Given the description of an element on the screen output the (x, y) to click on. 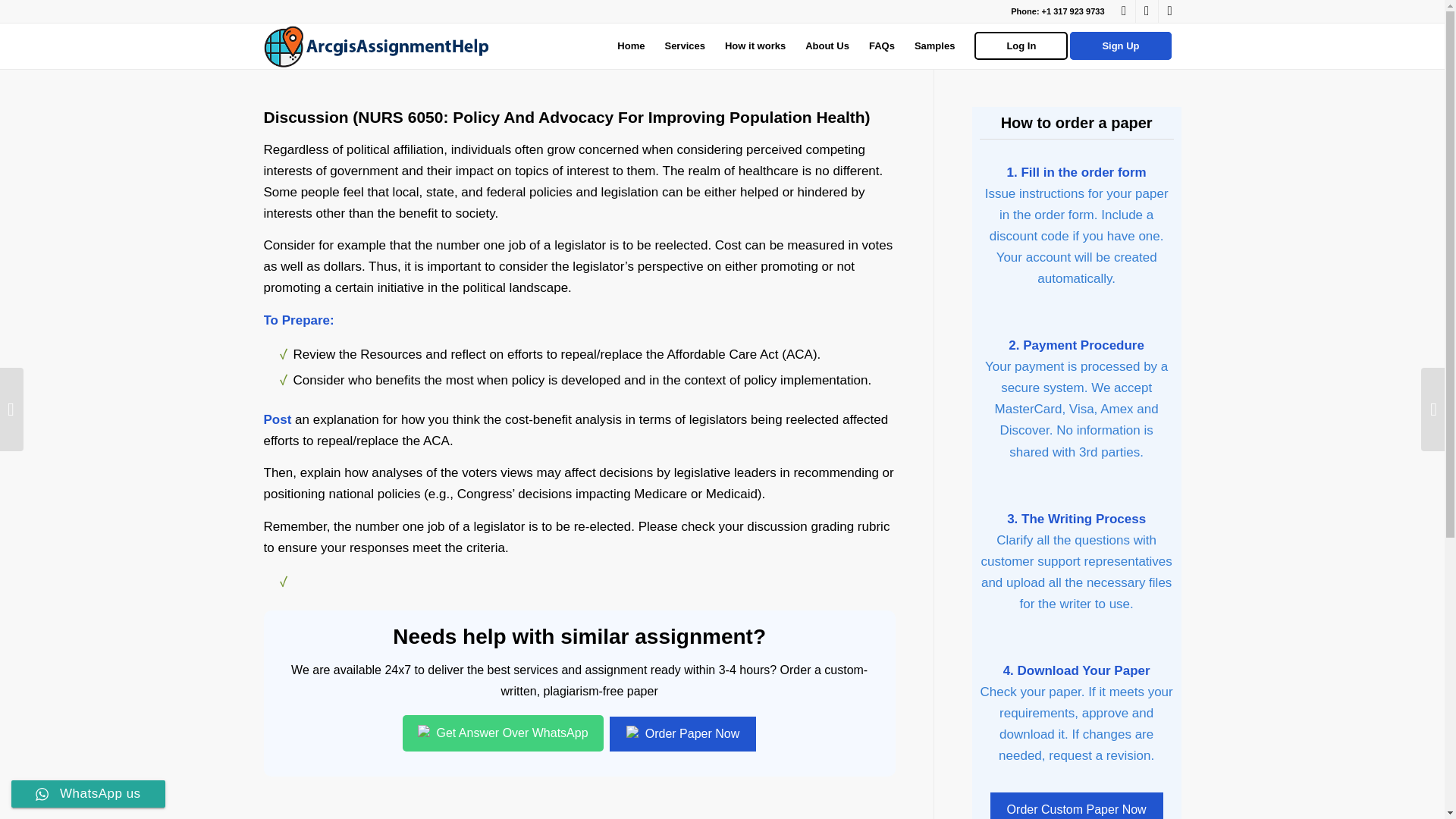
Log In (1020, 45)
Twitter (1146, 11)
How it works (754, 45)
Get Answer Over WhatsApp (503, 732)
Order Custom Paper Now (1076, 805)
Order Paper Now (682, 733)
Sign Up (1125, 45)
Samples (933, 45)
About Us (826, 45)
Services (683, 45)
Facebook (1124, 11)
Pinterest (1169, 11)
logo (377, 45)
Home (630, 45)
FAQs (881, 45)
